Given the description of an element on the screen output the (x, y) to click on. 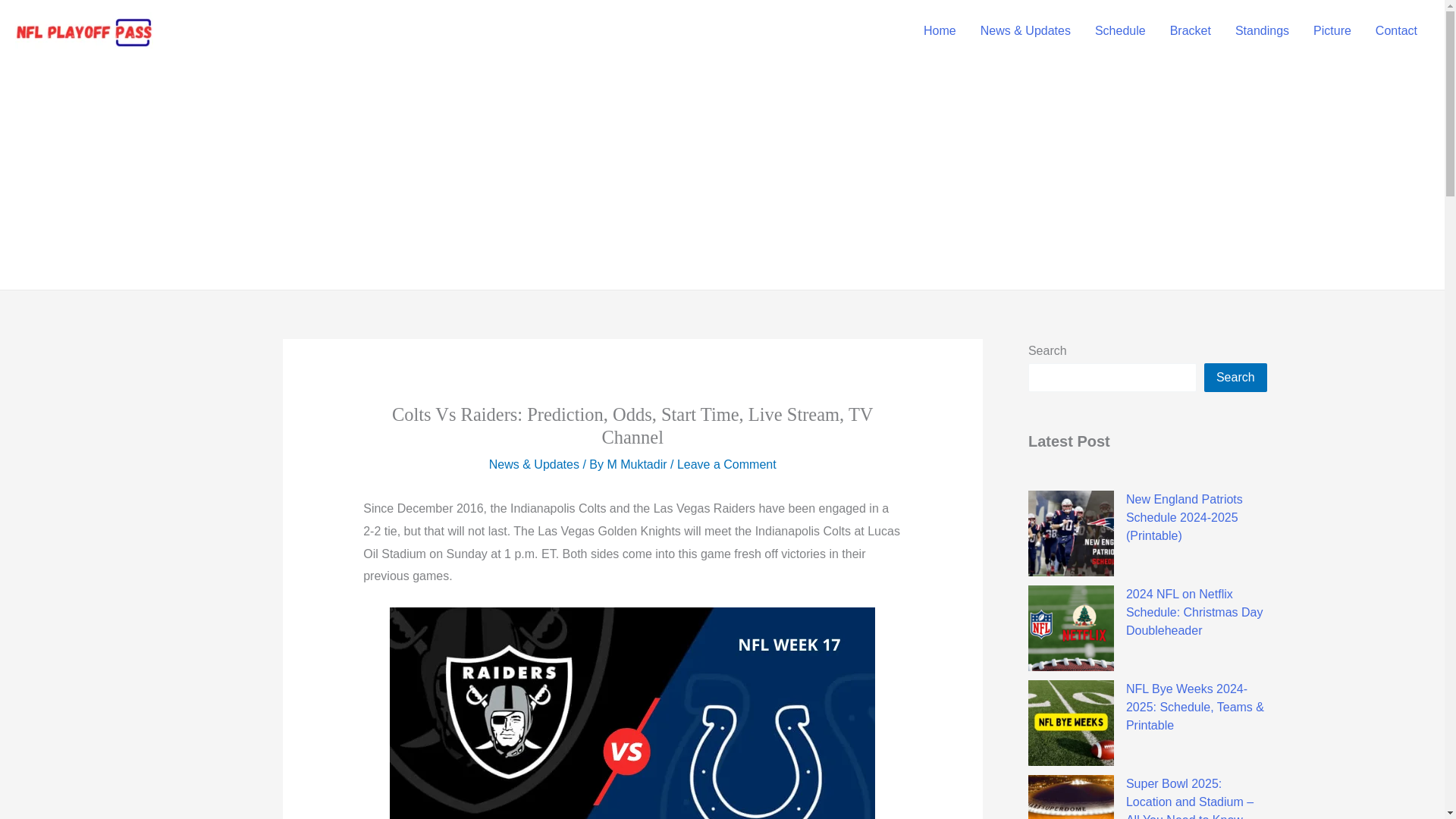
Home (939, 30)
Picture (1331, 30)
2024 NFL on Netflix Schedule: Christmas Day Doubleheader (1194, 612)
Leave a Comment (726, 463)
Bracket (1190, 30)
M Muktadir (638, 463)
Contact (1395, 30)
Schedule (1120, 30)
Search (1235, 377)
Standings (1262, 30)
View all posts by M Muktadir (638, 463)
